Given the description of an element on the screen output the (x, y) to click on. 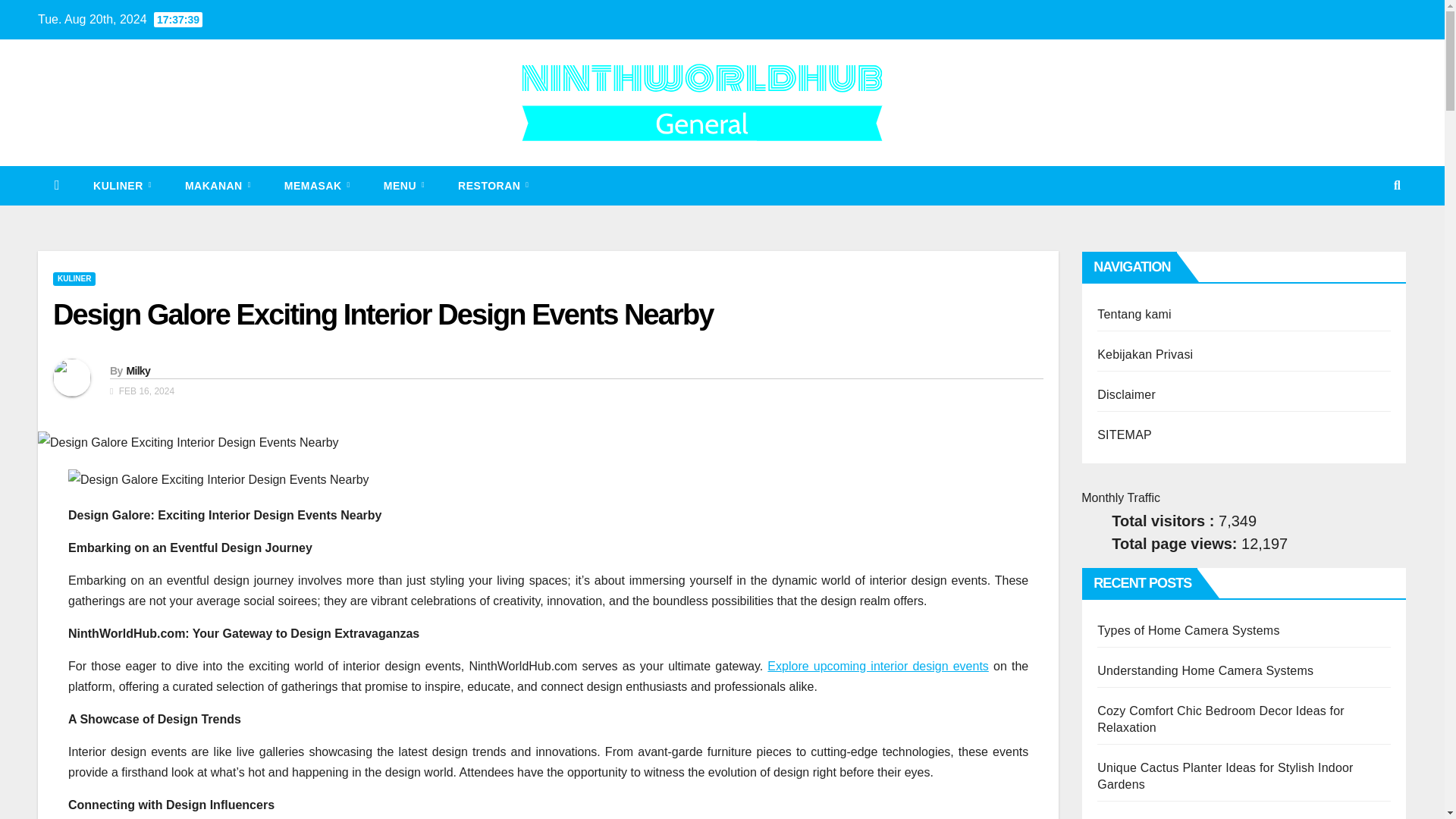
Memasak (316, 185)
MEMASAK (316, 185)
MAKANAN (217, 185)
Menu (403, 185)
Milky (137, 370)
Kuliner (122, 185)
Makanan (217, 185)
KULINER (122, 185)
MENU (403, 185)
RESTORAN (492, 185)
